Given the description of an element on the screen output the (x, y) to click on. 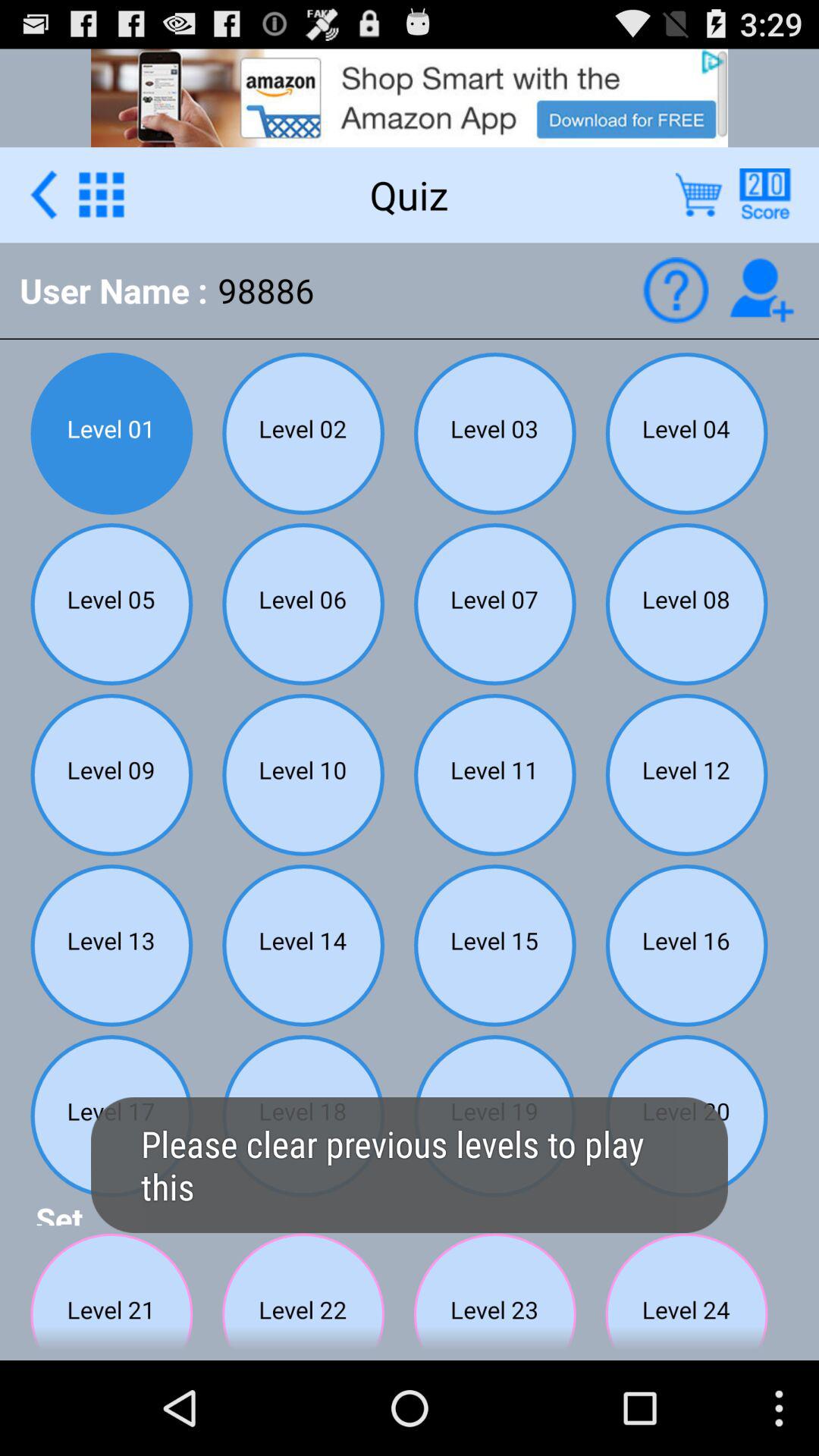
recruit friends (761, 290)
